Given the description of an element on the screen output the (x, y) to click on. 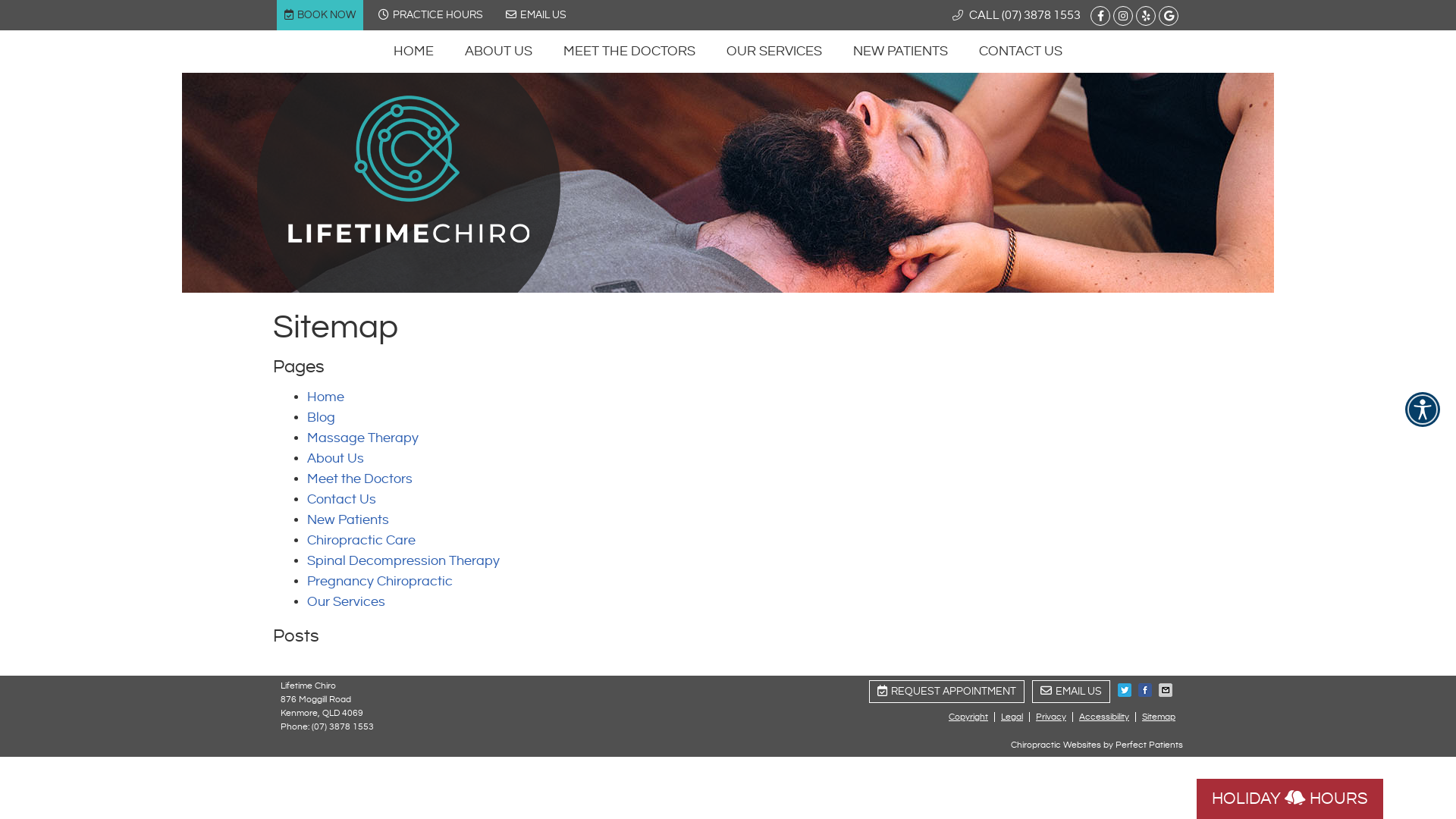
Google Social Button Element type: text (1167, 15)
Lifetime Chiro Element type: text (408, 238)
Contact Us Element type: text (341, 499)
Chiropractic Care Element type: text (361, 540)
Copyright Element type: text (968, 716)
Yelp Social Button Element type: text (1144, 15)
Spinal Decompression Therapy Element type: text (403, 560)
OUR SERVICES Element type: text (774, 51)
Facebook Social Button Element type: text (1099, 15)
Share via Email Element type: text (1166, 689)
NEW PATIENTS Element type: text (900, 51)
MEET THE DOCTORS Element type: text (629, 51)
About Us Element type: text (335, 458)
BOOK NOW Element type: text (319, 14)
ABOUT US Element type: text (498, 51)
Accessibility Element type: text (1104, 716)
Share on Facebook Element type: text (1146, 689)
Massage Therapy Element type: text (362, 437)
CONTACT US Element type: text (1020, 51)
HOME Element type: text (413, 51)
Legal Element type: text (1011, 716)
EMAIL US Element type: text (536, 14)
Meet the Doctors Element type: text (359, 478)
EMAIL US Element type: text (1070, 690)
PRACTICE HOURS Element type: text (430, 14)
Instagram Social Button Element type: text (1122, 15)
Our Services Element type: text (346, 601)
REQUEST APPOINTMENT Element type: text (946, 690)
Home Element type: text (325, 396)
Blog Element type: text (321, 417)
(07) 3878 1553 Element type: text (1040, 15)
(07) 3878 1553 Element type: text (342, 726)
Pregnancy Chiropractic Element type: text (379, 581)
New Patients Element type: text (348, 519)
Privacy Element type: text (1051, 716)
Sitemap Element type: text (1155, 716)
Share on Twitter Element type: text (1125, 689)
